Given the description of an element on the screen output the (x, y) to click on. 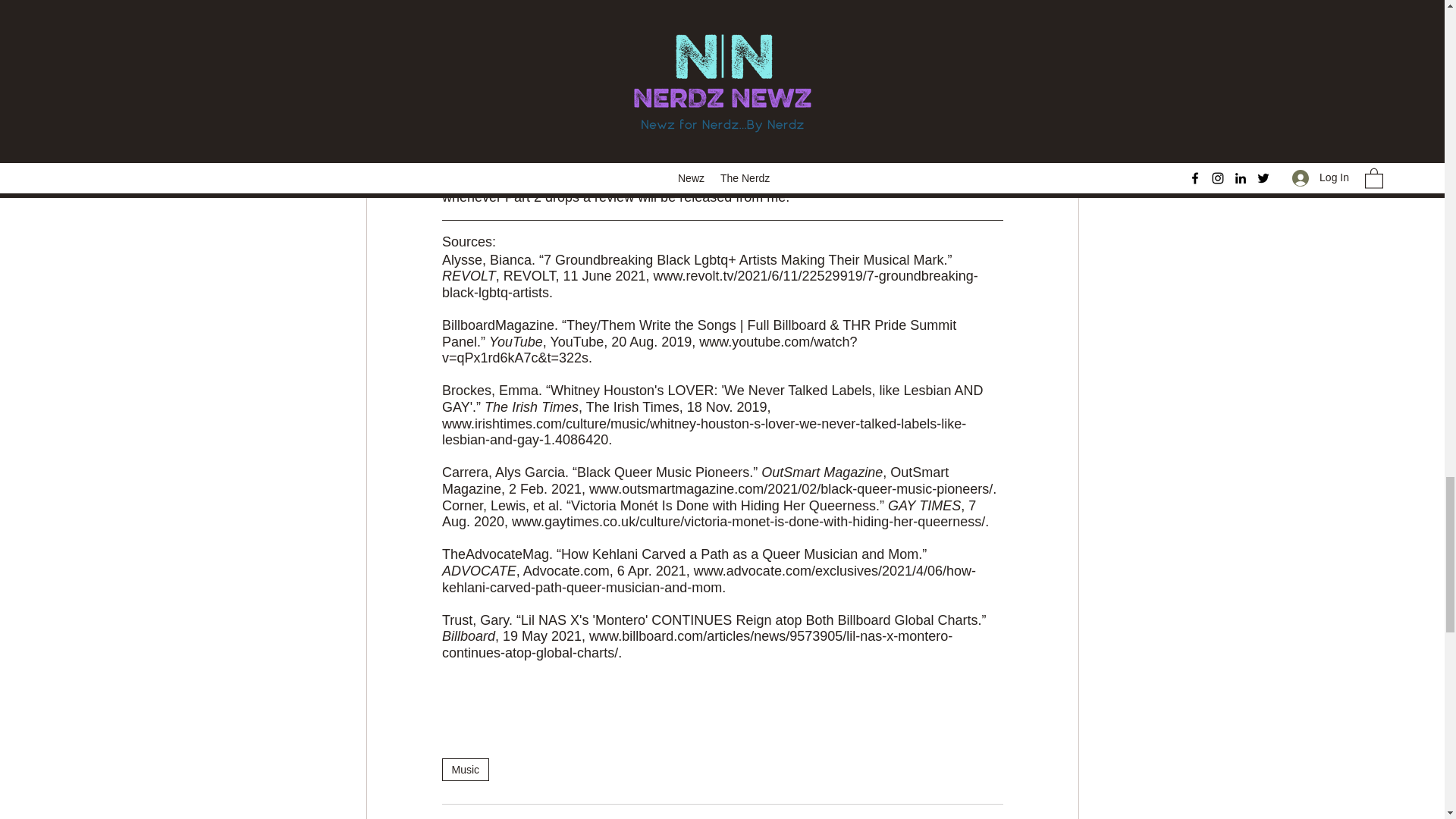
Music (465, 769)
